Given the description of an element on the screen output the (x, y) to click on. 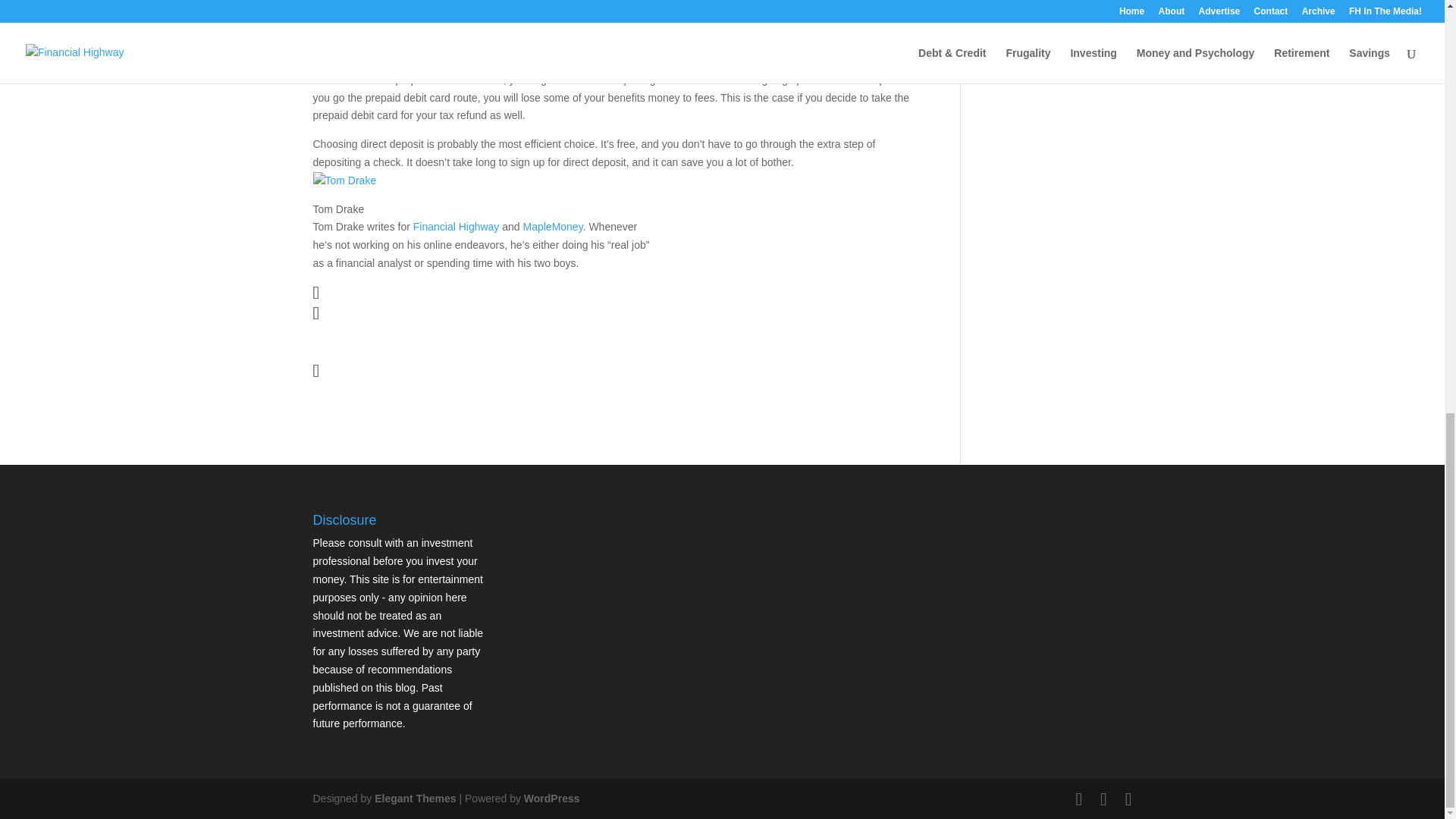
MapleMoney (552, 226)
Premium WordPress Themes (414, 798)
Financial Highway (456, 226)
WordPress (551, 798)
Elegant Themes (414, 798)
